Given the description of an element on the screen output the (x, y) to click on. 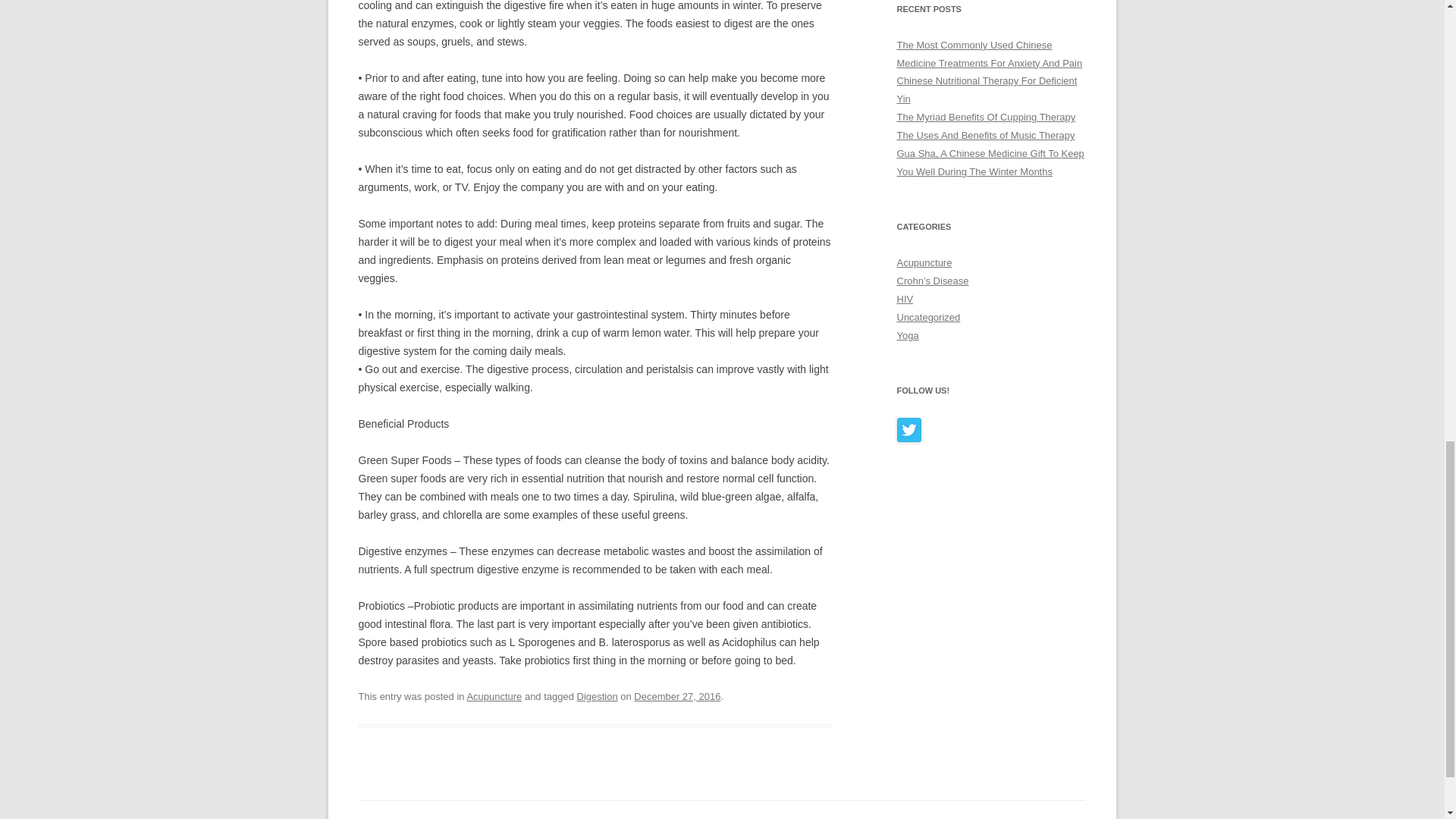
The Myriad Benefits Of Cupping Therapy (985, 116)
Follow Us on Twitter (908, 429)
Acupuncture (924, 262)
HIV (904, 298)
Yoga (907, 335)
Digestion (596, 696)
5:31 AM (676, 696)
Uncategorized (927, 317)
The Uses And Benefits of Music Therapy (985, 134)
December 27, 2016 (676, 696)
